Given the description of an element on the screen output the (x, y) to click on. 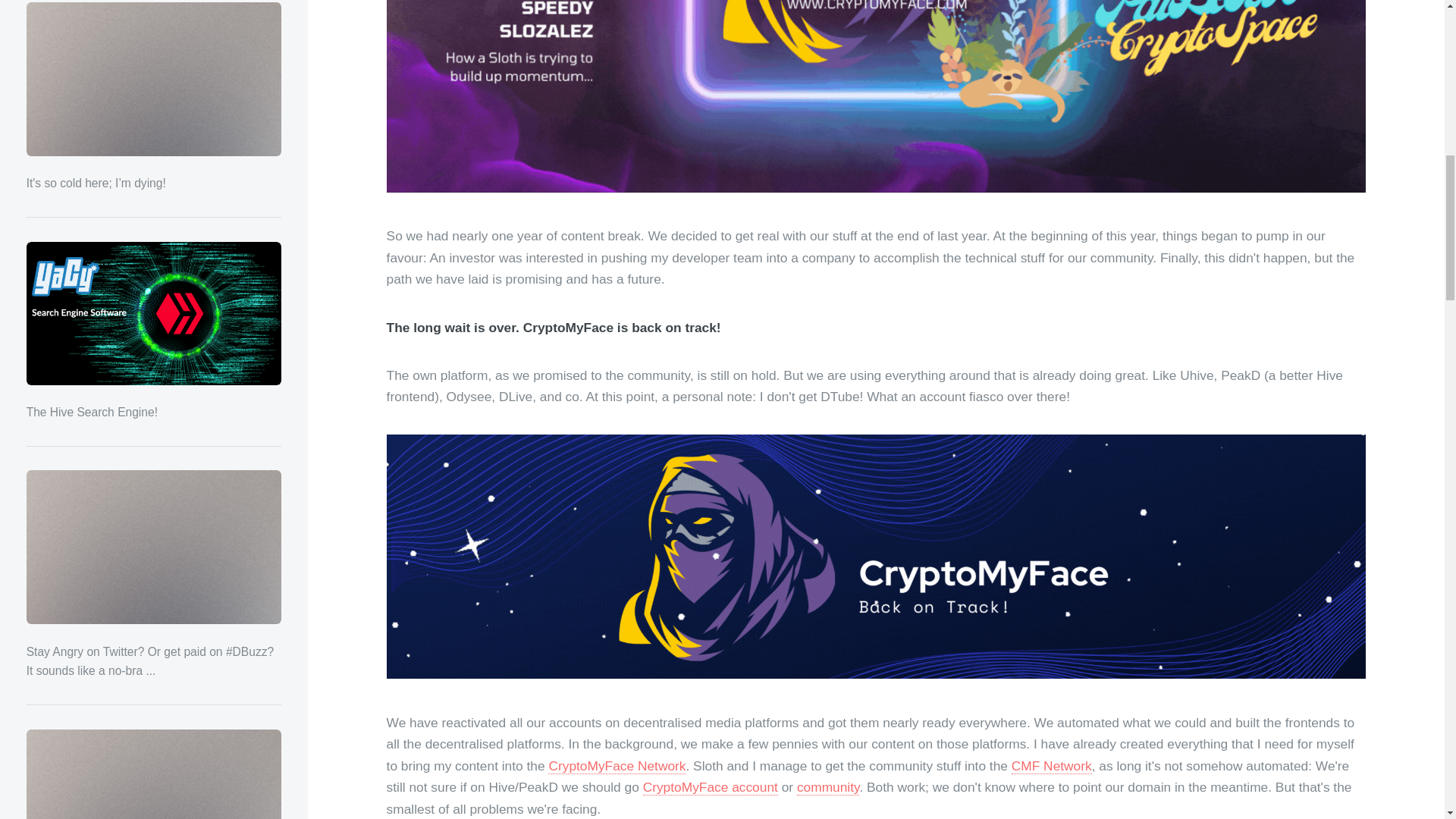
community (828, 787)
CryptoMyFace account (710, 787)
CMF Network (1051, 765)
CryptoMyFace Network (616, 765)
